Given the description of an element on the screen output the (x, y) to click on. 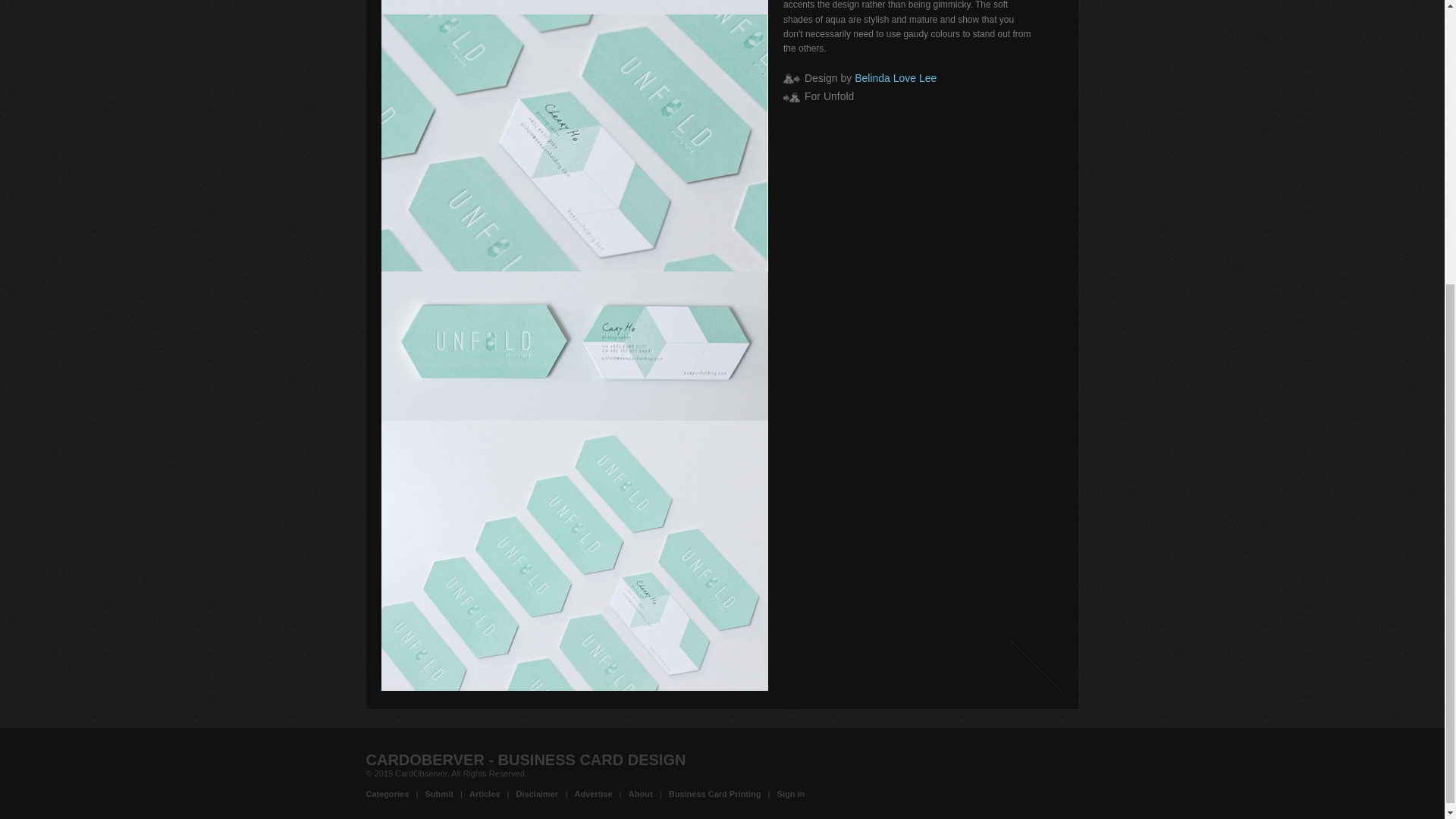
Submit (438, 793)
Disclaimer (537, 793)
Belinda Love Lee (895, 78)
Advertise (592, 793)
About (640, 793)
Business Card Printing (714, 793)
Articles (483, 793)
Sign in (791, 793)
Categories (387, 793)
